Given the description of an element on the screen output the (x, y) to click on. 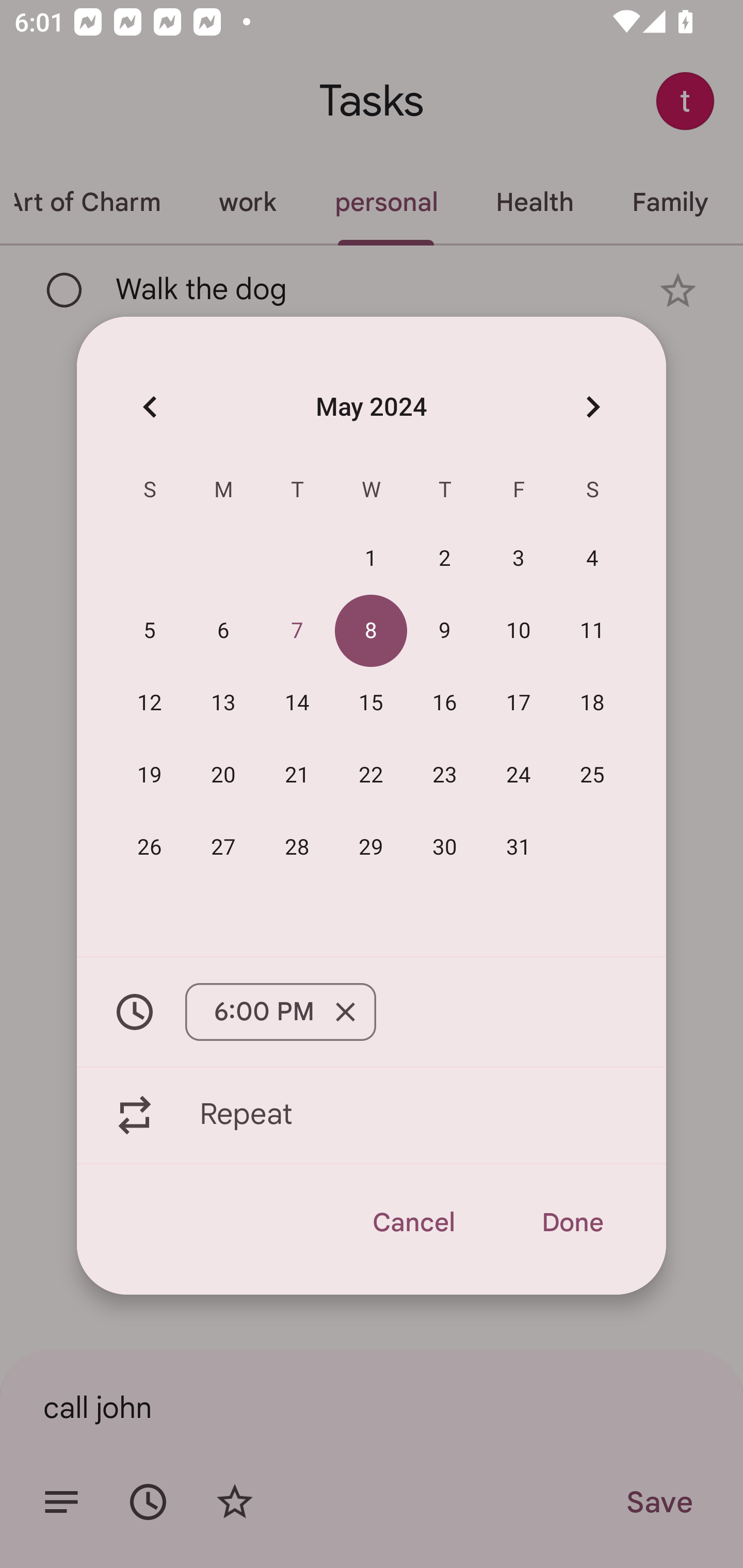
Previous month (149, 406)
Next month (592, 406)
1 01 May 2024 (370, 558)
2 02 May 2024 (444, 558)
3 03 May 2024 (518, 558)
4 04 May 2024 (592, 558)
5 05 May 2024 (149, 630)
6 06 May 2024 (223, 630)
7 07 May 2024 (297, 630)
8 08 May 2024 (370, 630)
9 09 May 2024 (444, 630)
10 10 May 2024 (518, 630)
11 11 May 2024 (592, 630)
12 12 May 2024 (149, 702)
13 13 May 2024 (223, 702)
14 14 May 2024 (297, 702)
15 15 May 2024 (370, 702)
16 16 May 2024 (444, 702)
17 17 May 2024 (518, 702)
18 18 May 2024 (592, 702)
19 19 May 2024 (149, 774)
20 20 May 2024 (223, 774)
21 21 May 2024 (297, 774)
22 22 May 2024 (370, 774)
23 23 May 2024 (444, 774)
24 24 May 2024 (518, 774)
25 25 May 2024 (592, 774)
26 26 May 2024 (149, 846)
27 27 May 2024 (223, 846)
28 28 May 2024 (297, 846)
29 29 May 2024 (370, 846)
30 30 May 2024 (444, 846)
31 31 May 2024 (518, 846)
6:00 PM Remove 6:00 PM (371, 1012)
6:00 PM Remove 6:00 PM (280, 1012)
Repeat (371, 1114)
Cancel (412, 1222)
Done (571, 1222)
